Given the description of an element on the screen output the (x, y) to click on. 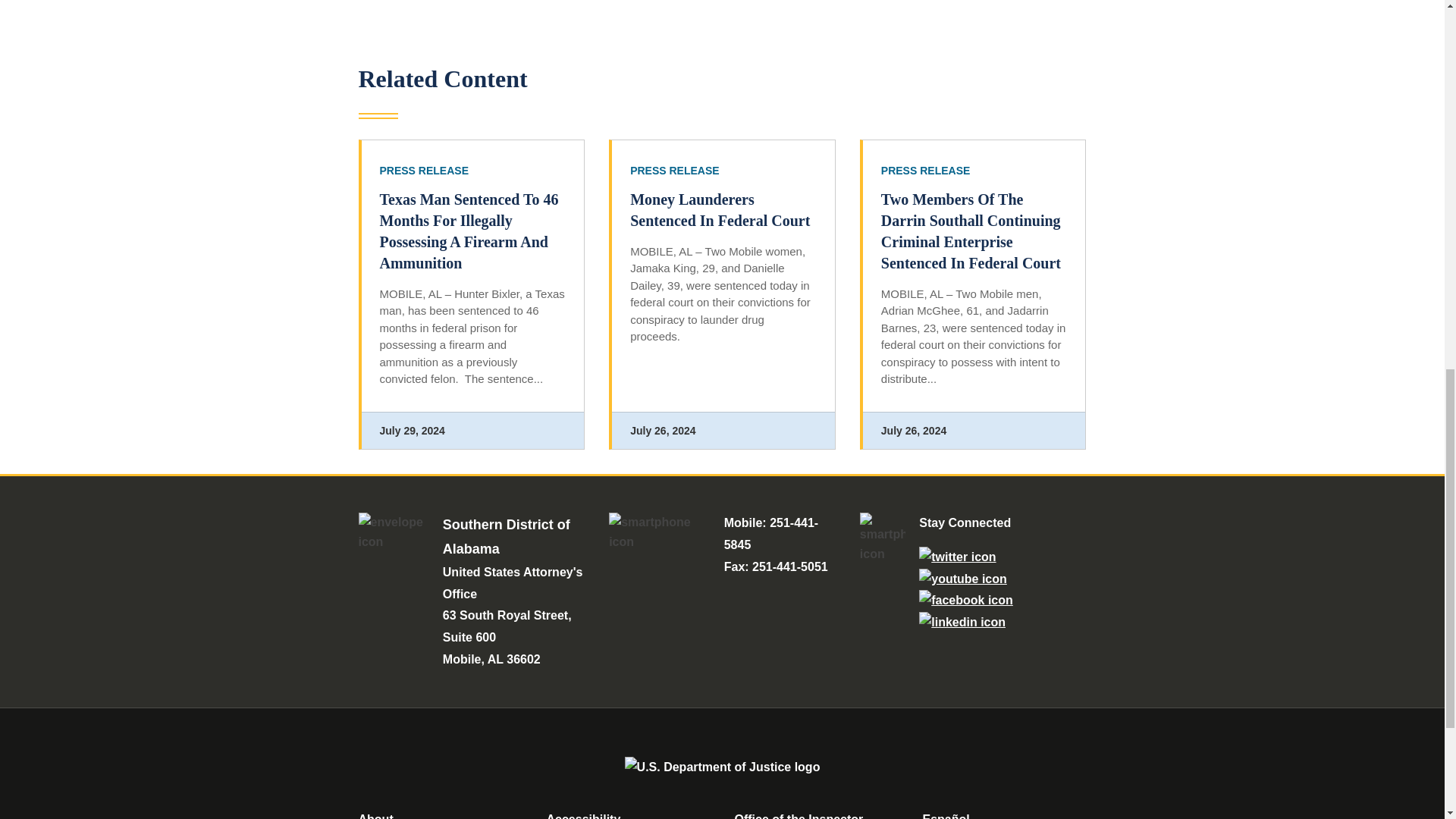
Accessibility Statement (583, 816)
About DOJ (375, 816)
